Given the description of an element on the screen output the (x, y) to click on. 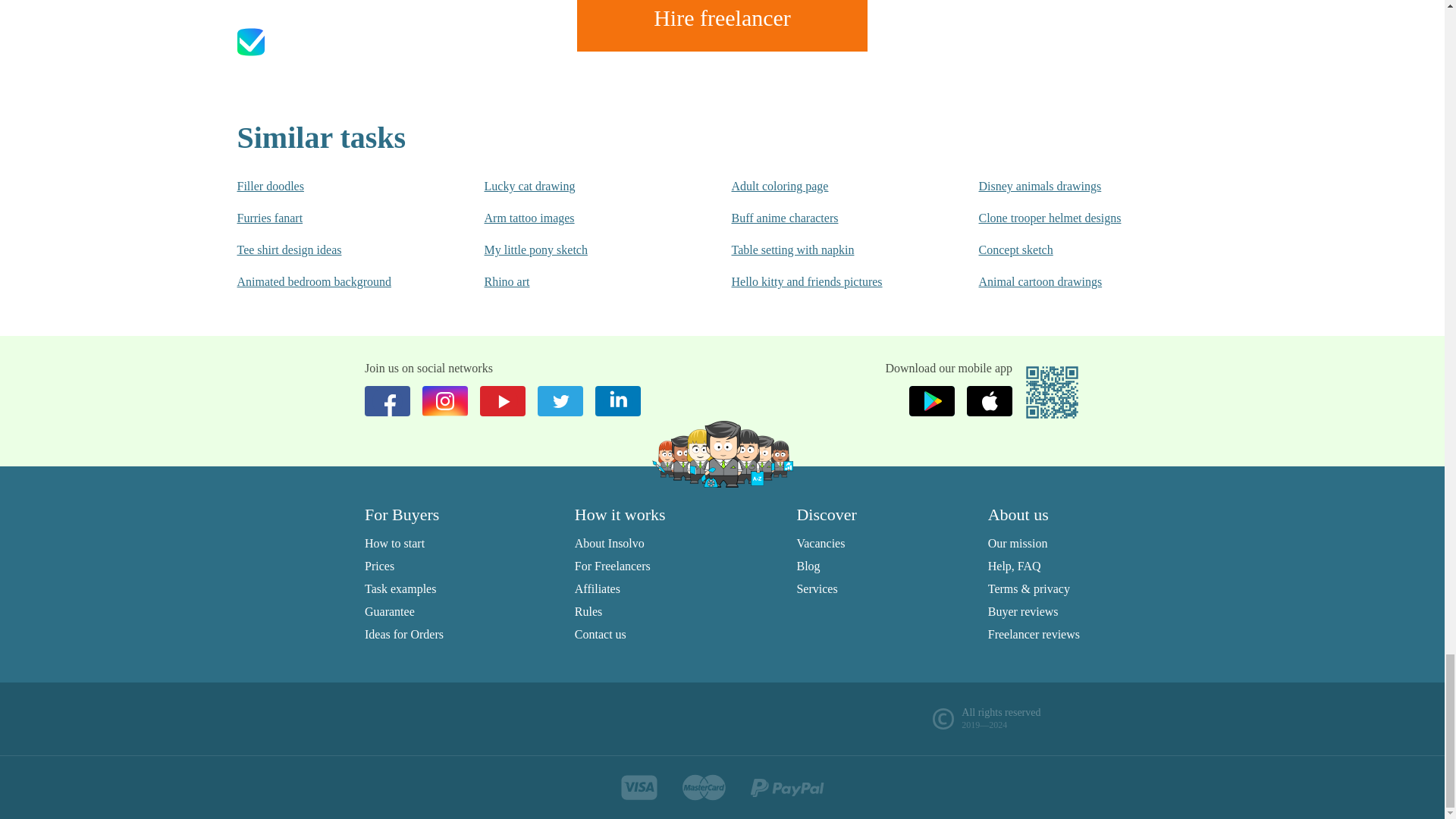
Buff anime characters (823, 217)
Prices (379, 565)
Adult coloring page (823, 186)
Guarantee (389, 611)
Arm tattoo images (576, 217)
For Freelancers (612, 565)
My little pony sketch (576, 249)
Tee shirt design ideas (329, 249)
About Insolvo (610, 543)
Furries fanart (329, 217)
Table setting with napkin (823, 249)
Filler doodles (329, 186)
Lucky cat drawing (576, 186)
Clone trooper helmet designs (1071, 217)
Affiliates (597, 588)
